Given the description of an element on the screen output the (x, y) to click on. 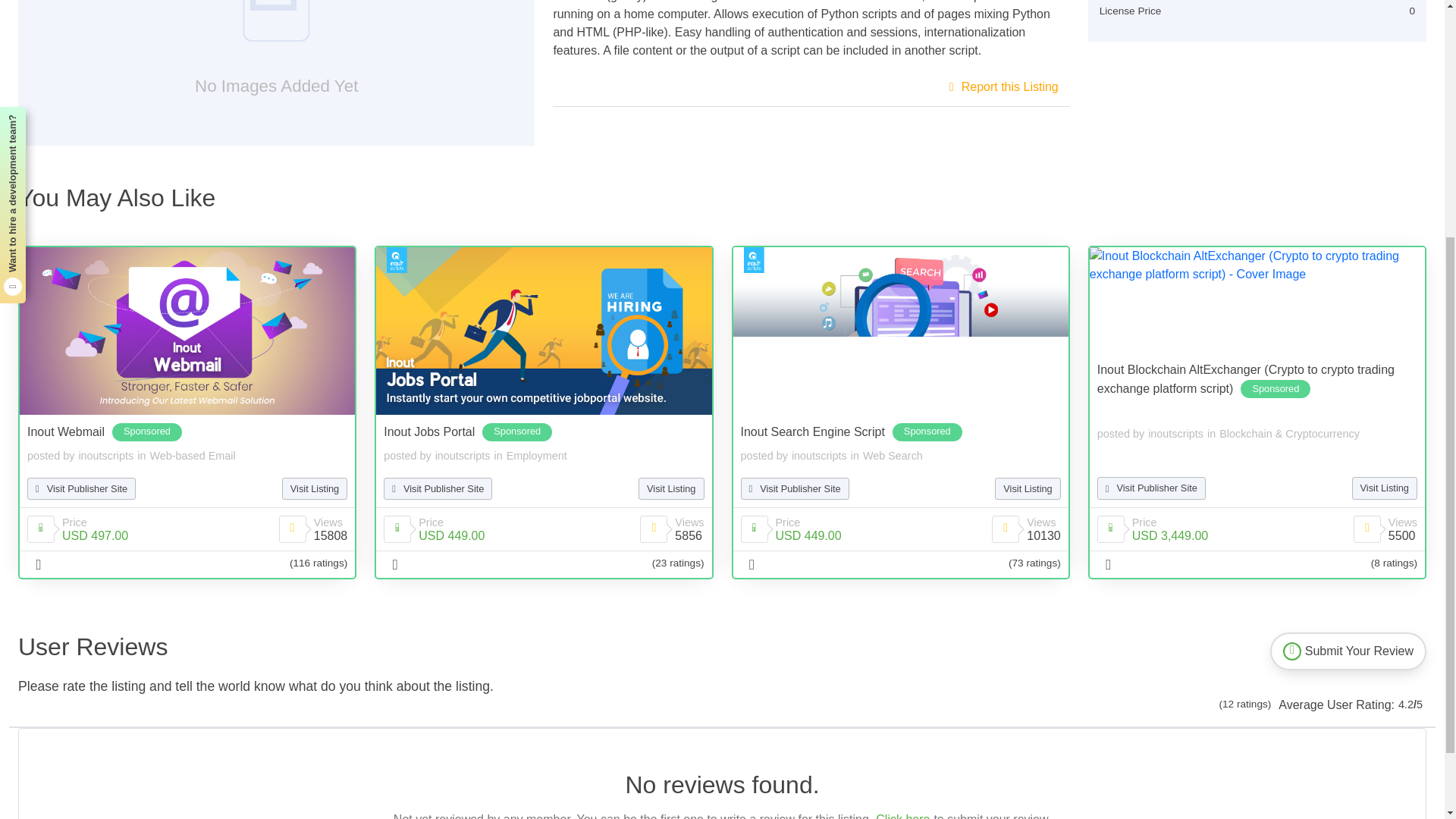
Visit Listing - Inout Search Engine Script (899, 330)
Visit Listing - Inout Jobs Portal (543, 330)
Visit Listing - Inout Webmail (187, 330)
